Given the description of an element on the screen output the (x, y) to click on. 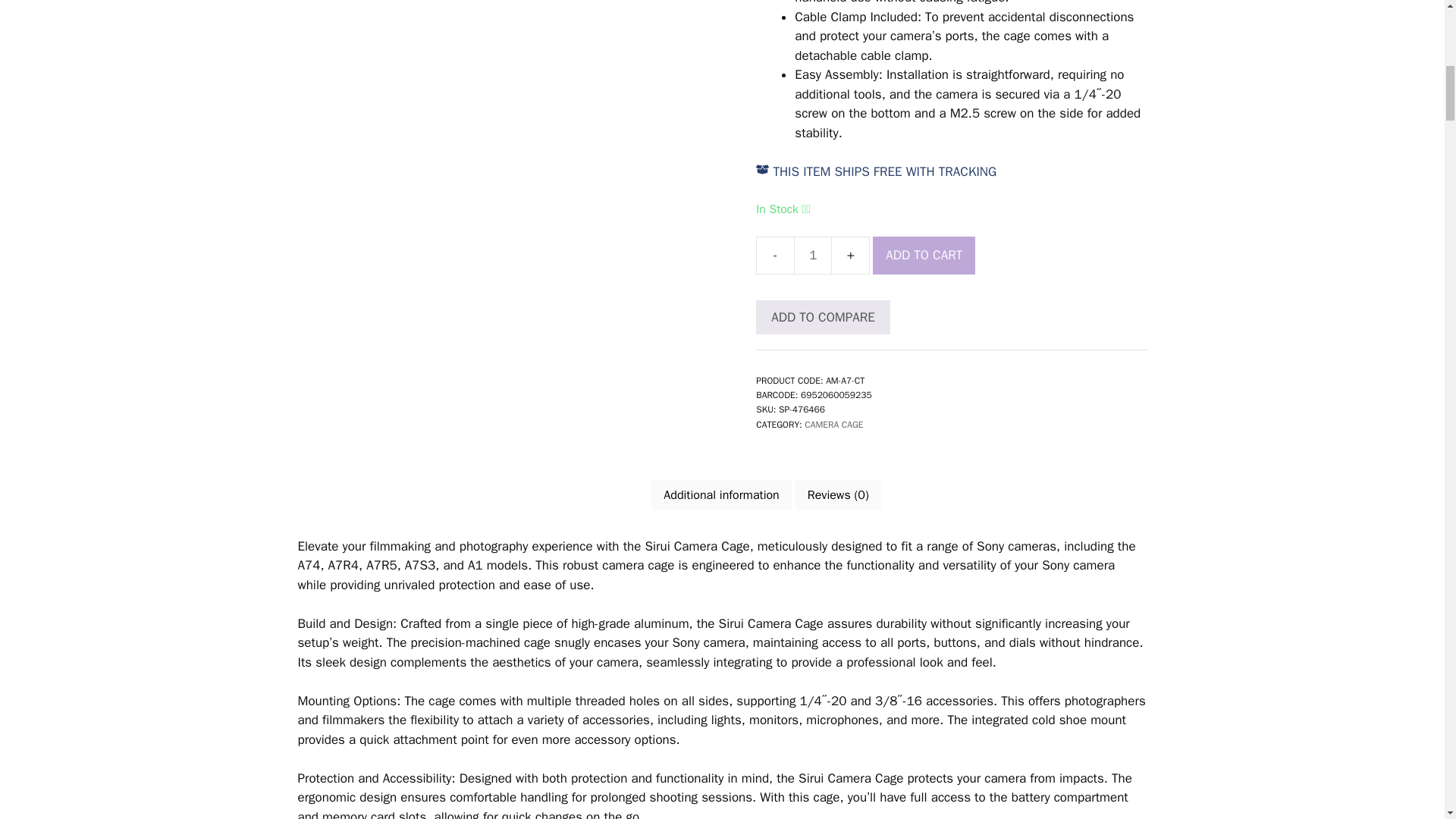
1 (812, 255)
